Given the description of an element on the screen output the (x, y) to click on. 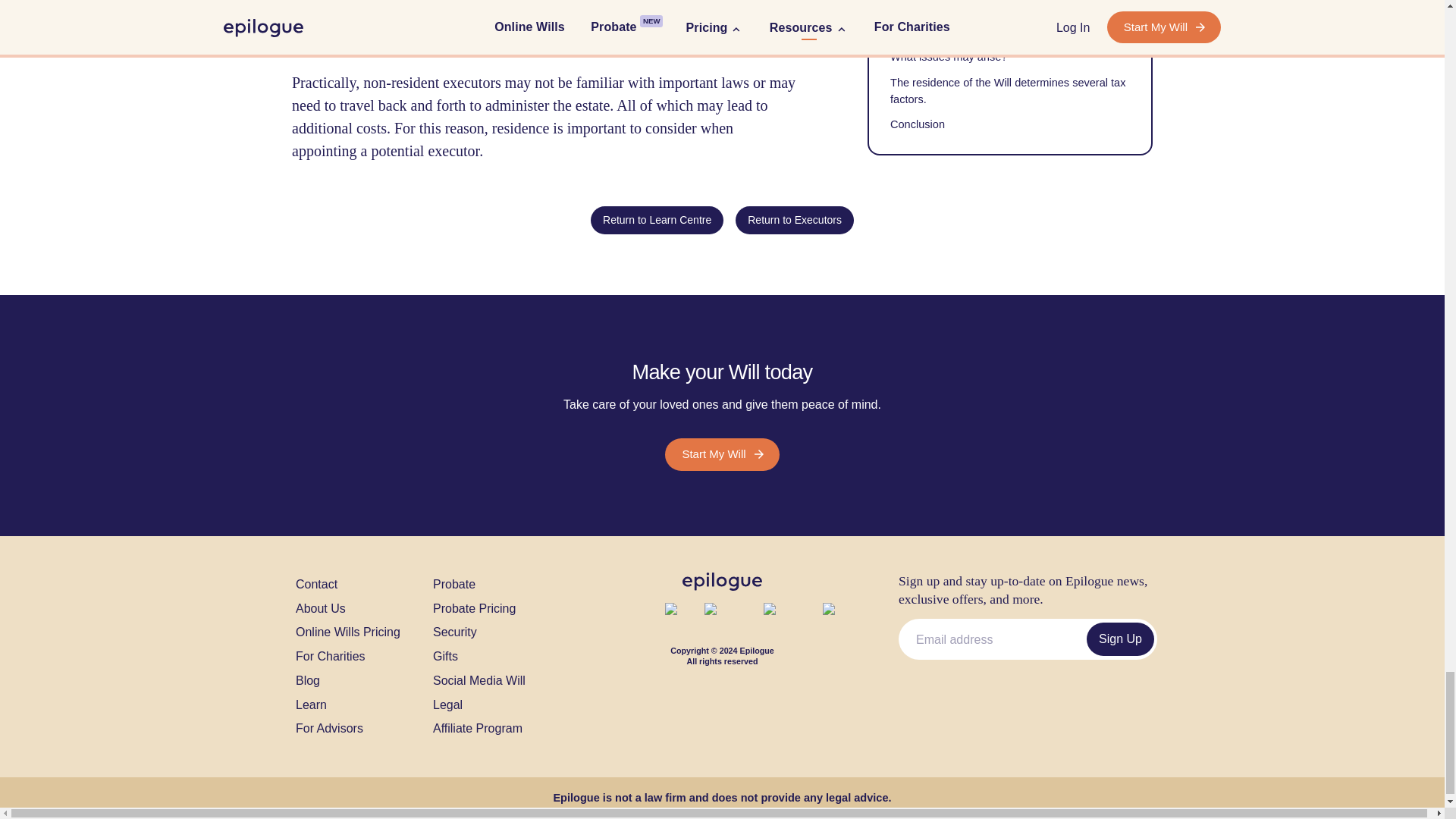
Return to Learn Centre (657, 218)
Blog (307, 679)
Security (454, 631)
For Advisors (328, 727)
Contact (316, 583)
Probate Pricing (473, 607)
Gifts (445, 655)
Return to Learn Centre (657, 220)
Online Wills Pricing (347, 631)
For Charities (330, 655)
About Us (320, 607)
Learn (310, 703)
Start My Will (721, 454)
Return to Executors (794, 220)
Probate (454, 583)
